Given the description of an element on the screen output the (x, y) to click on. 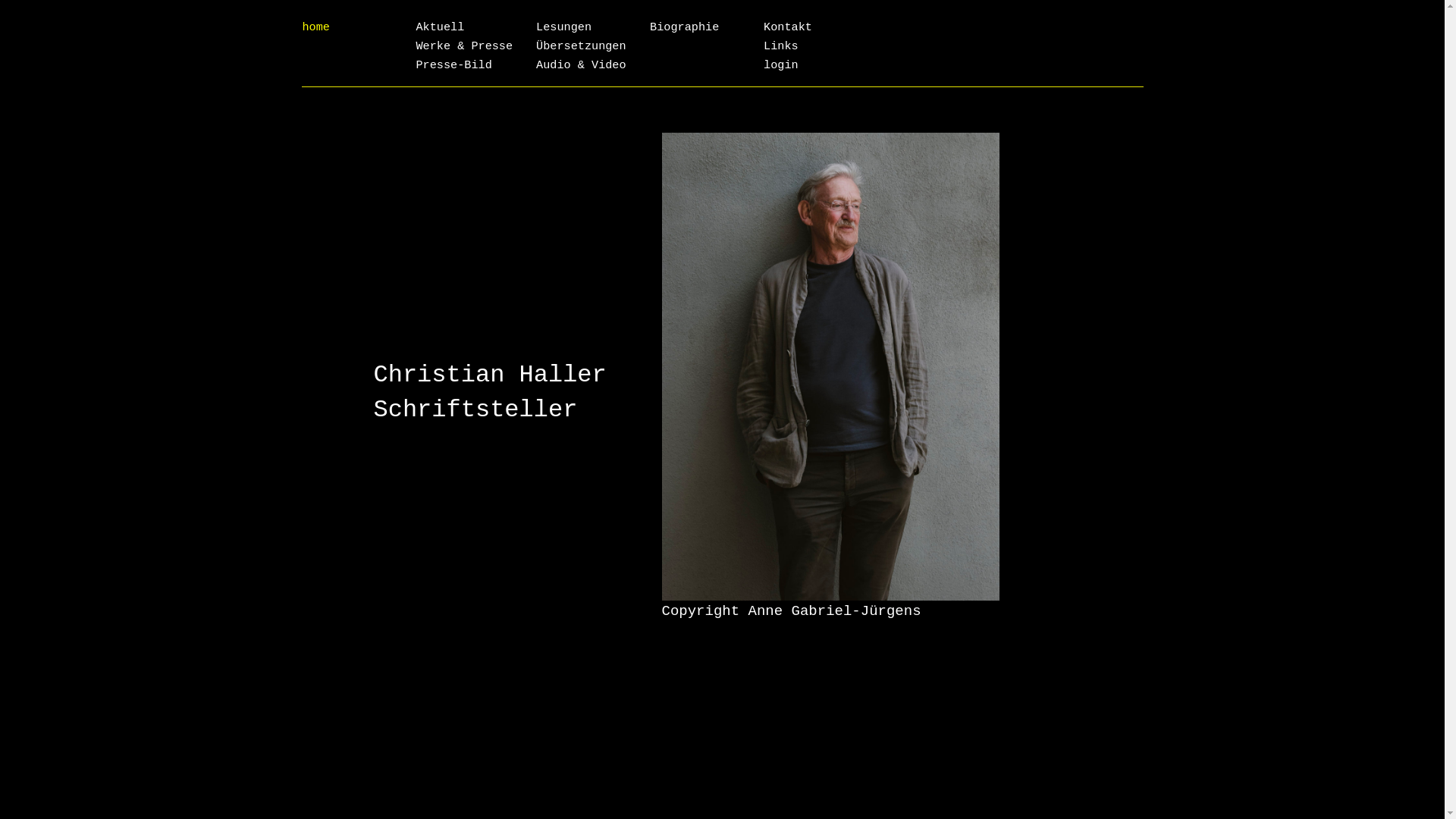
Biographie Element type: text (683, 27)
Links Element type: text (780, 46)
login Element type: text (780, 65)
Presse-Bild Element type: text (453, 65)
Aktuell Element type: text (439, 27)
home Element type: text (315, 27)
Audio & Video Element type: text (580, 65)
Lesungen Element type: text (563, 27)
Werke & Presse Element type: text (463, 46)
Kontakt Element type: text (787, 27)
